Given the description of an element on the screen output the (x, y) to click on. 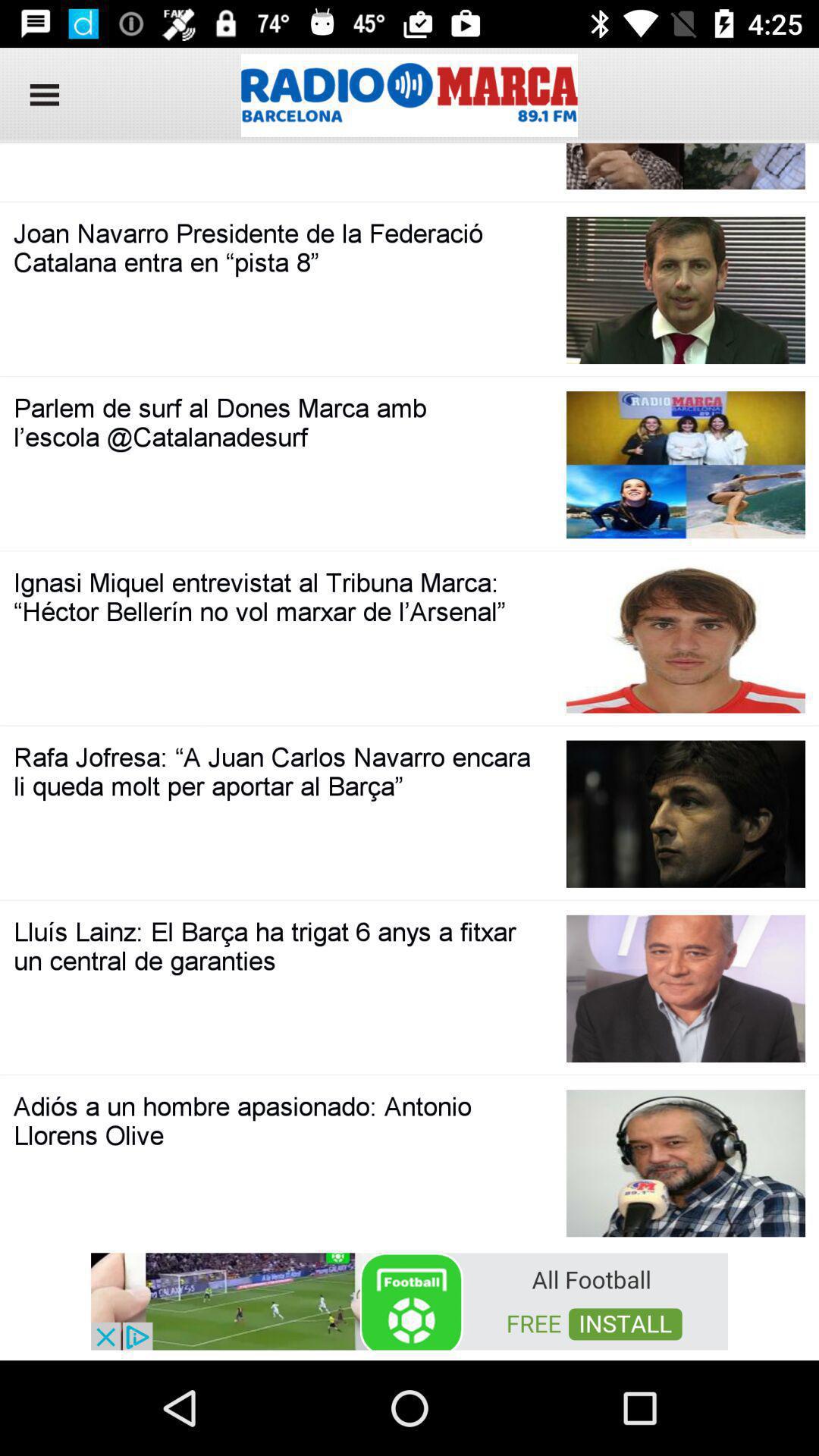
click on the 3 horizontal lines icon at the top left corner of the web page (39, 95)
